Given the description of an element on the screen output the (x, y) to click on. 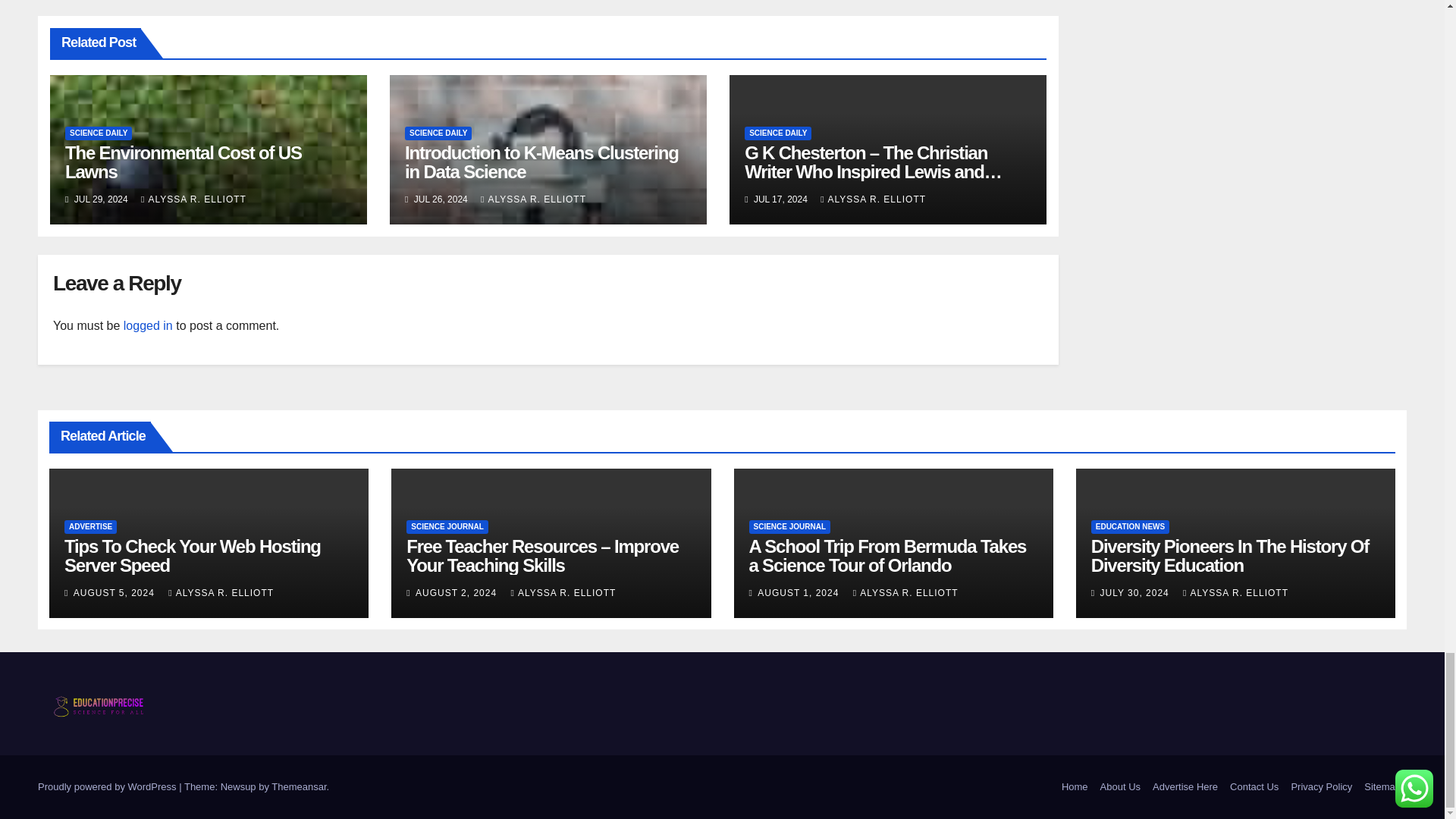
Permalink to: The Environmental Cost of US Lawns (183, 161)
The Environmental Cost of US Lawns (183, 161)
SCIENCE DAILY (98, 133)
